Given the description of an element on the screen output the (x, y) to click on. 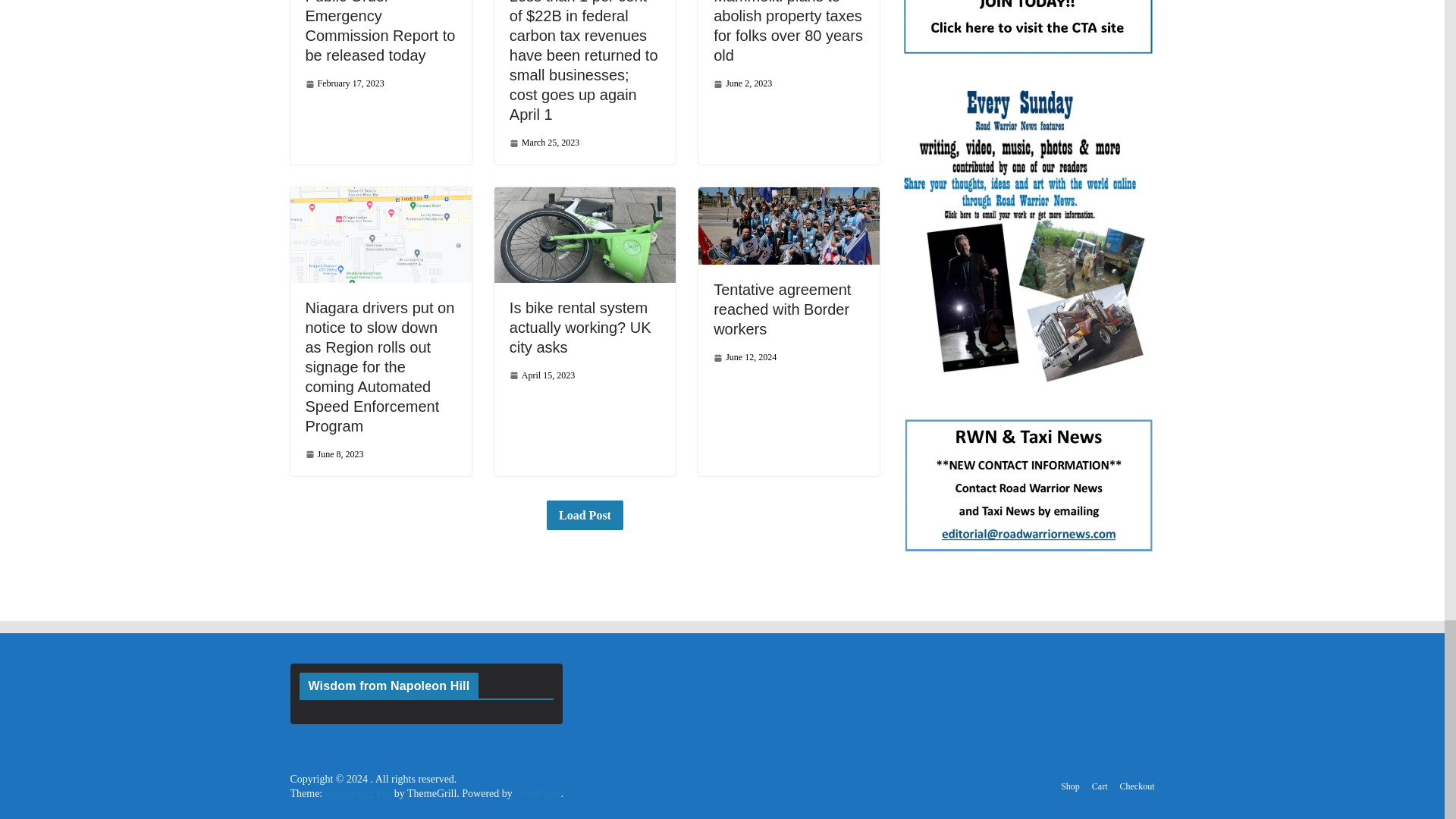
March 25, 2023 (544, 142)
February 17, 2023 (344, 83)
